Given the description of an element on the screen output the (x, y) to click on. 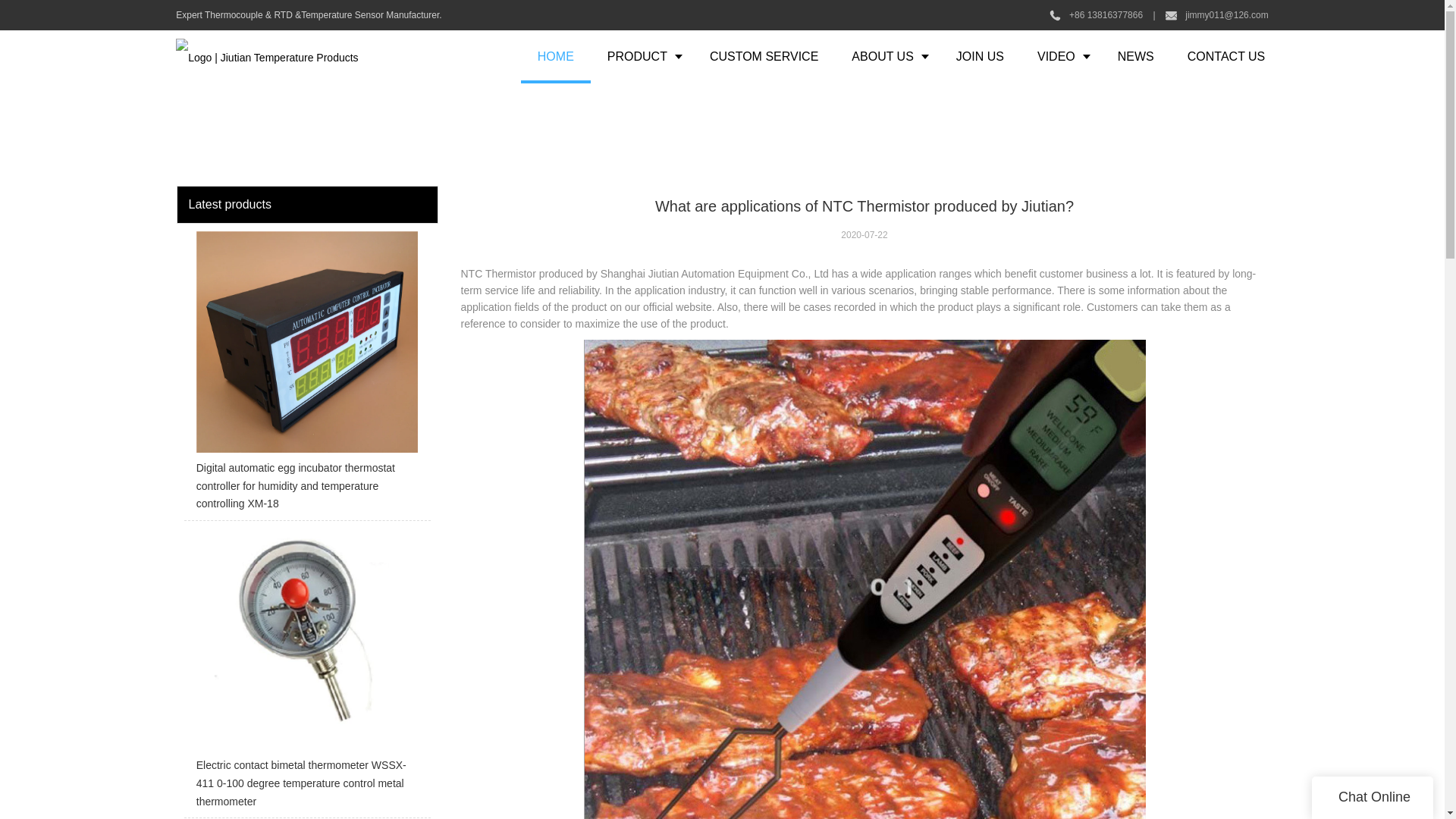
JOIN US (979, 56)
CUSTOM SERVICE (763, 56)
NEWS (1135, 56)
VIDEO (1060, 56)
PRODUCT (642, 56)
ABOUT US (886, 56)
HOME (556, 56)
